Given the description of an element on the screen output the (x, y) to click on. 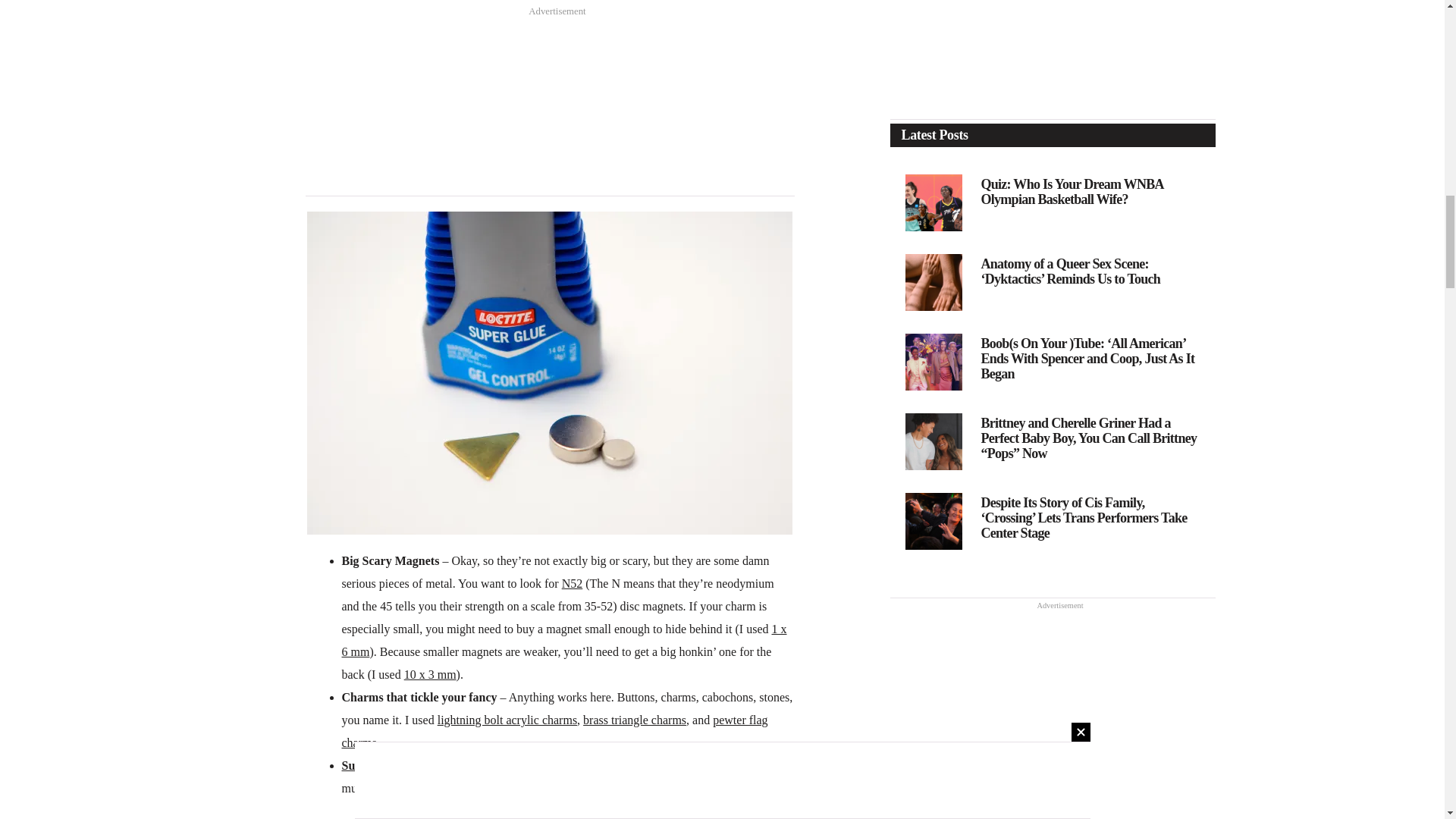
3rd party ad content (549, 118)
